Given the description of an element on the screen output the (x, y) to click on. 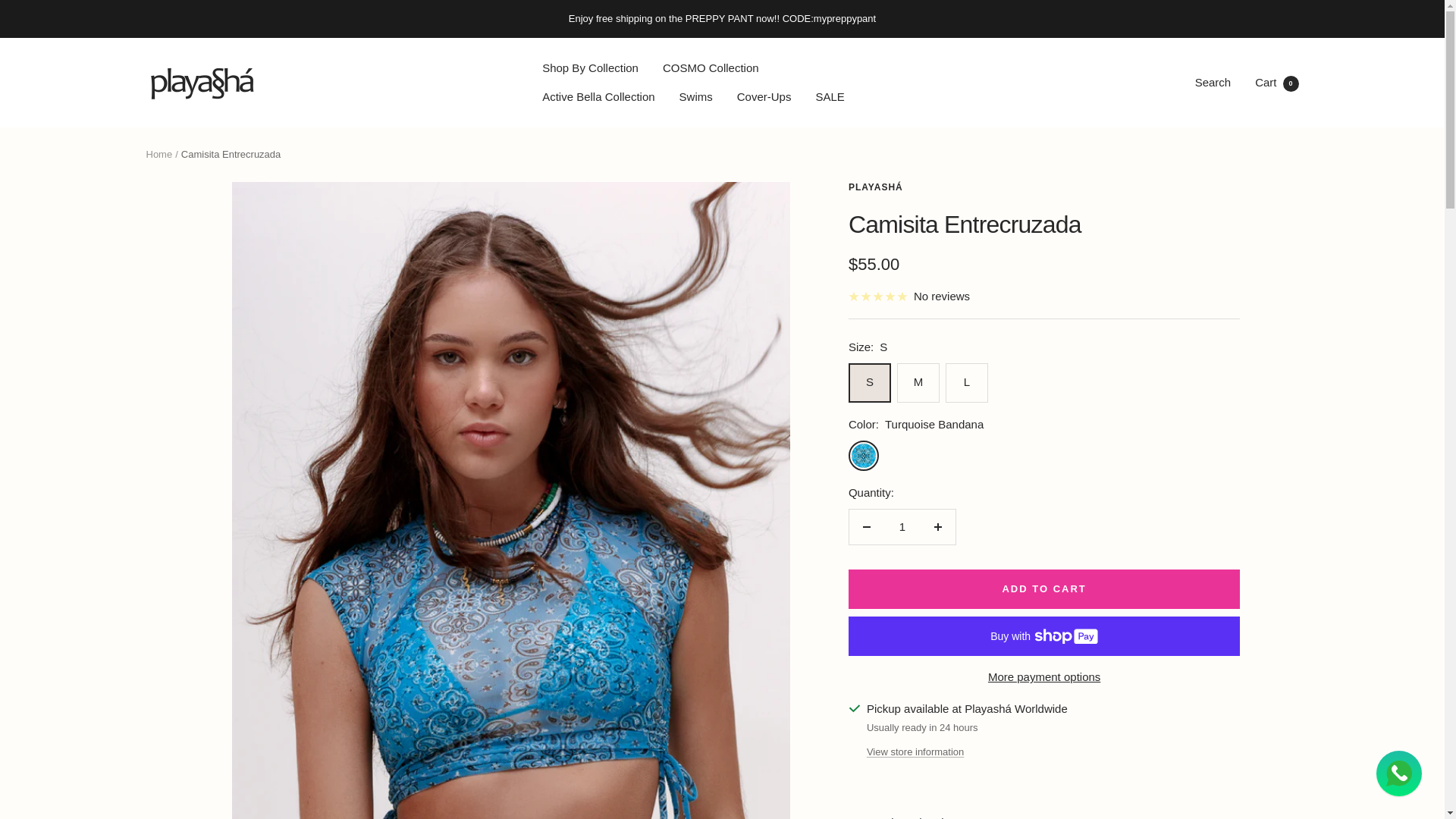
1 (901, 526)
More payment options (1044, 677)
Cover-Ups (764, 96)
View store information (914, 752)
Swims (696, 96)
Increase quantity (937, 526)
Shop By Collection (590, 67)
SALE (829, 96)
ADD TO CART (1276, 82)
Home (1044, 589)
Active Bella Collection (158, 153)
